Given the description of an element on the screen output the (x, y) to click on. 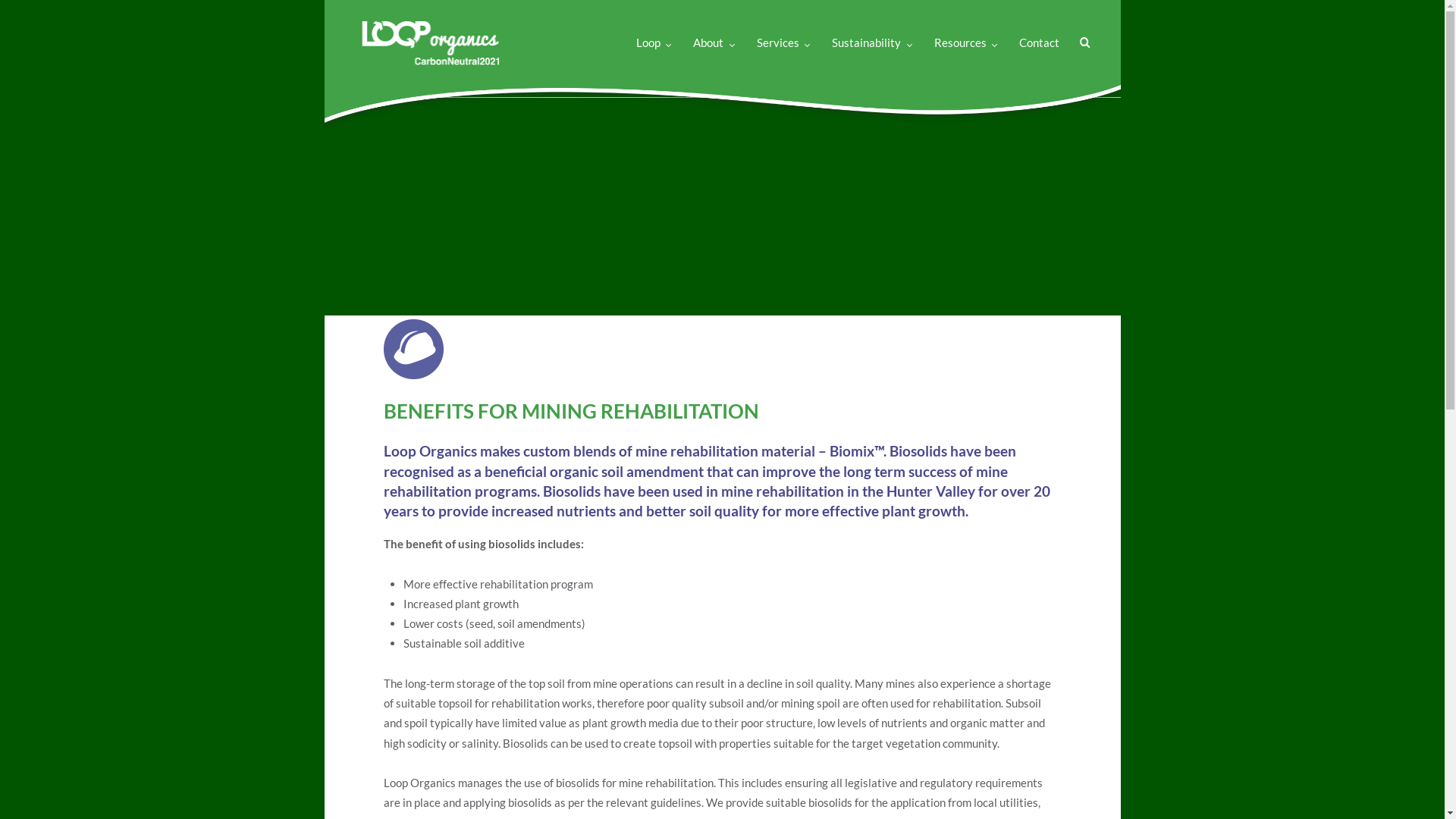
Services Element type: text (782, 26)
About Element type: text (713, 26)
Loop Element type: text (653, 26)
Contact Element type: text (1039, 26)
Sustainability Element type: text (871, 26)
Resources Element type: text (965, 26)
